Given the description of an element on the screen output the (x, y) to click on. 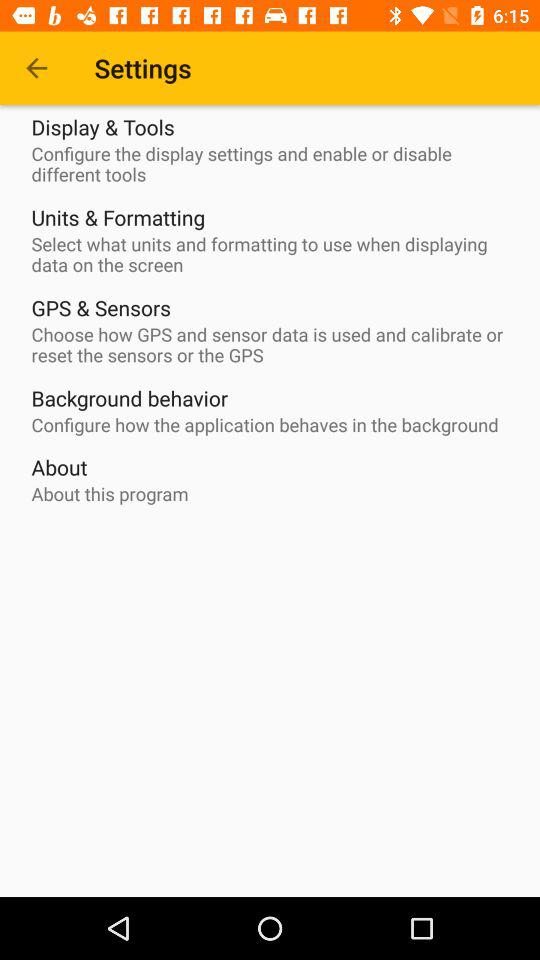
press the icon below choose how gps item (129, 398)
